Given the description of an element on the screen output the (x, y) to click on. 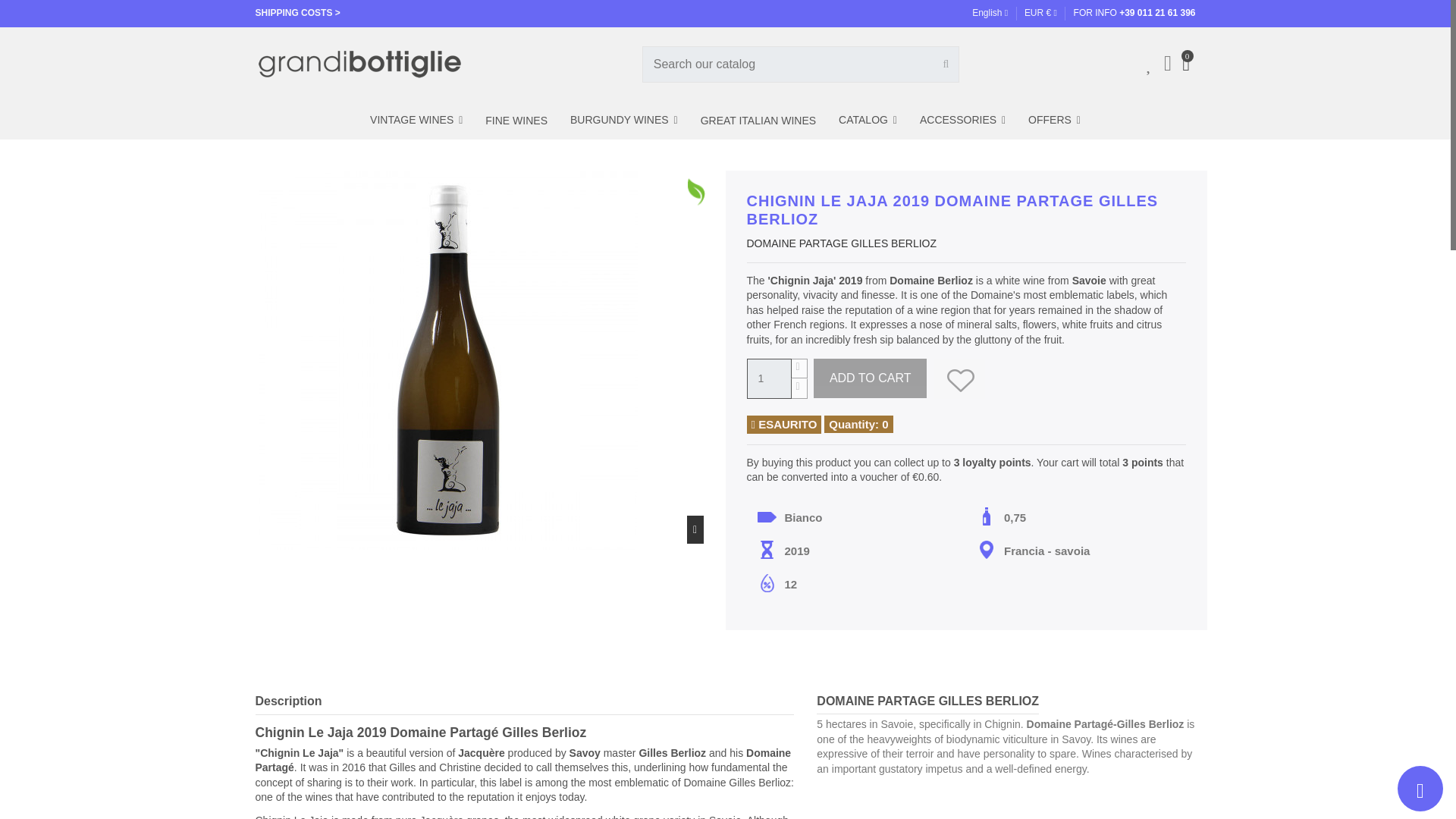
VINTAGE WINES (416, 120)
FINE WINES (516, 120)
Add to wishlist (959, 378)
BURGUNDY WINES (623, 120)
English (989, 12)
1 (767, 378)
